Given the description of an element on the screen output the (x, y) to click on. 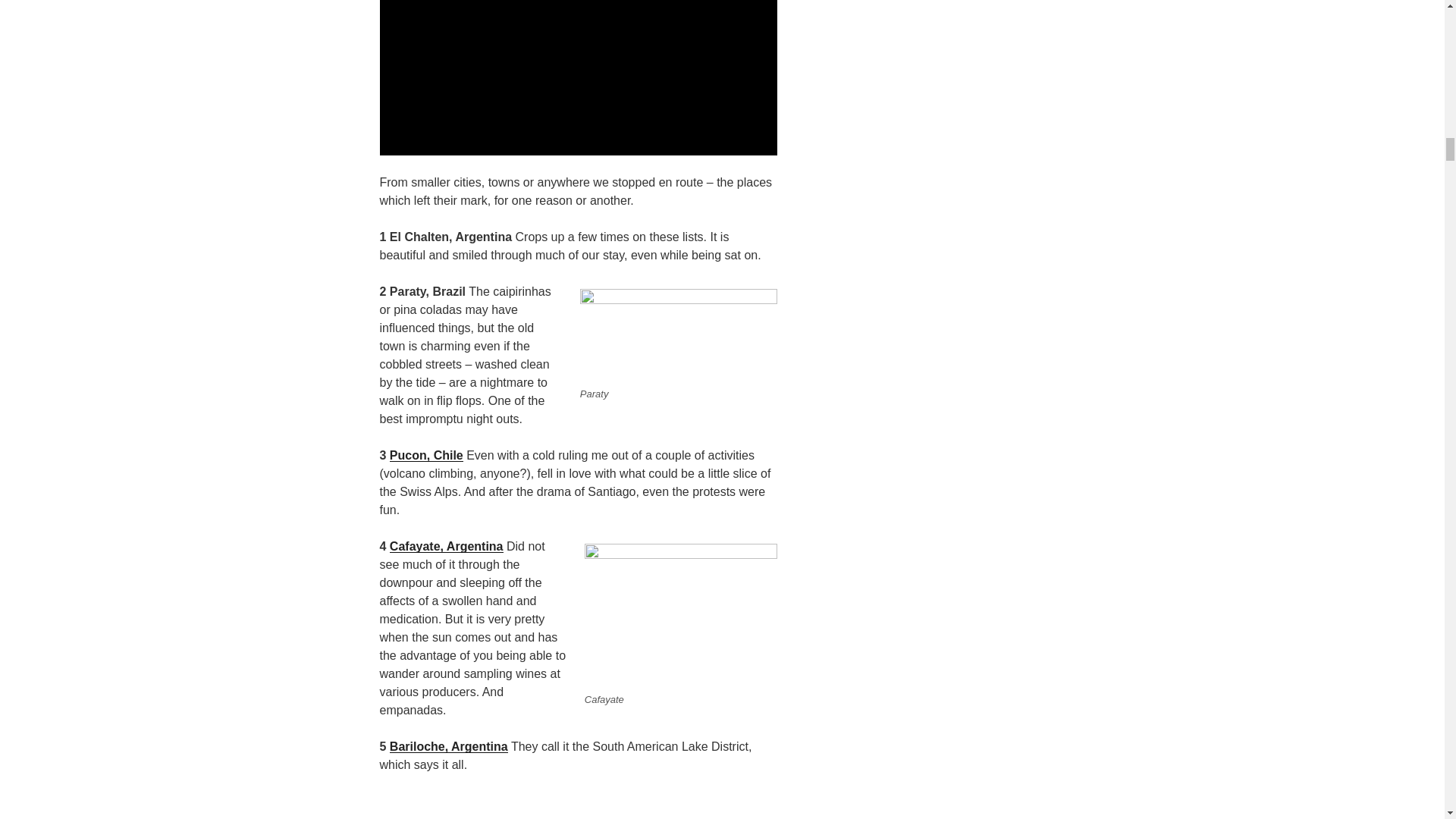
Pucon, Chile (426, 454)
Bariloche, Argentina (449, 746)
Cafayate, Argentina (446, 545)
